Given the description of an element on the screen output the (x, y) to click on. 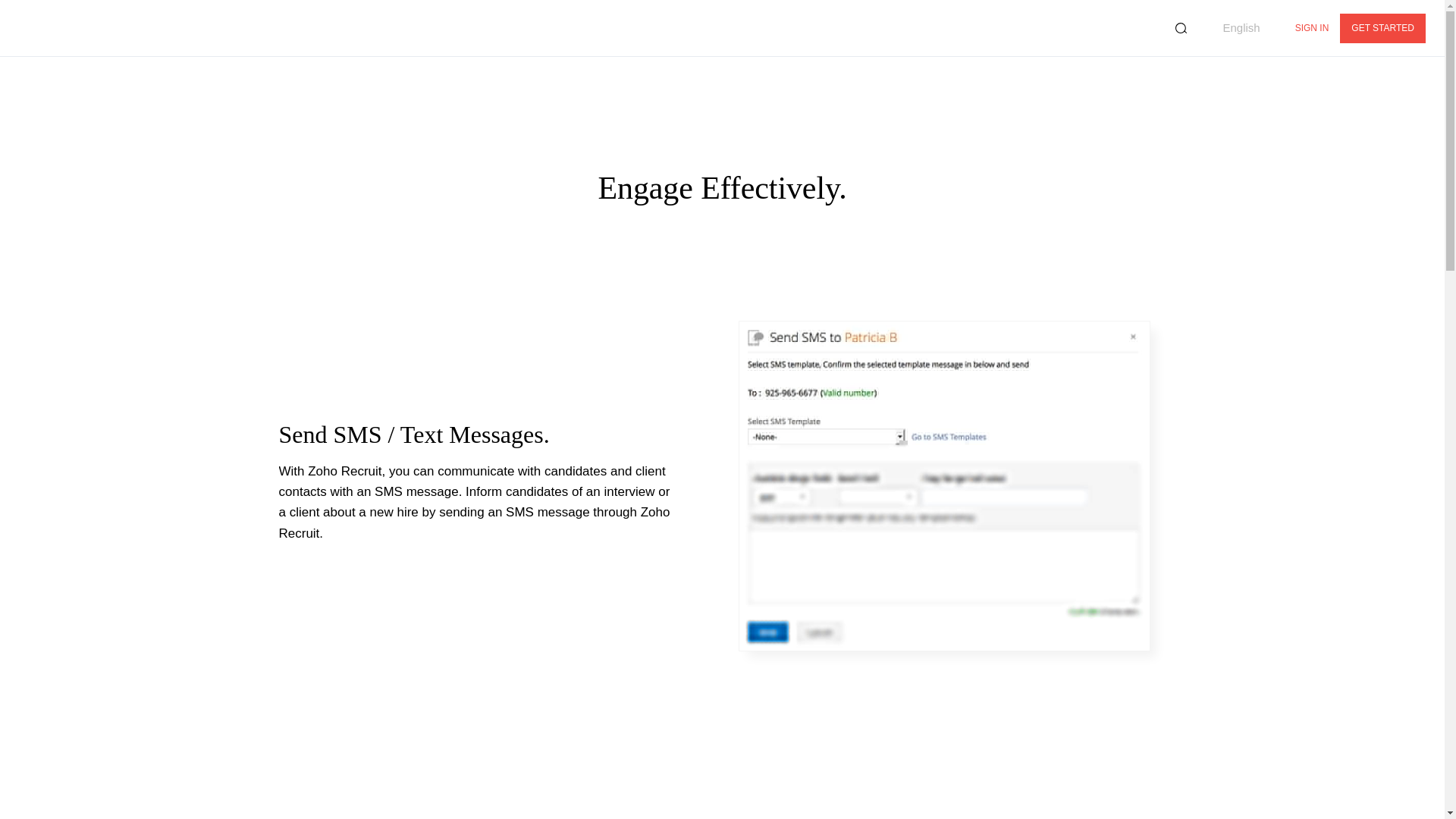
Zoho.com (60, 27)
GET STARTED (1382, 28)
English (1232, 28)
SIGN IN (1312, 28)
